Given the description of an element on the screen output the (x, y) to click on. 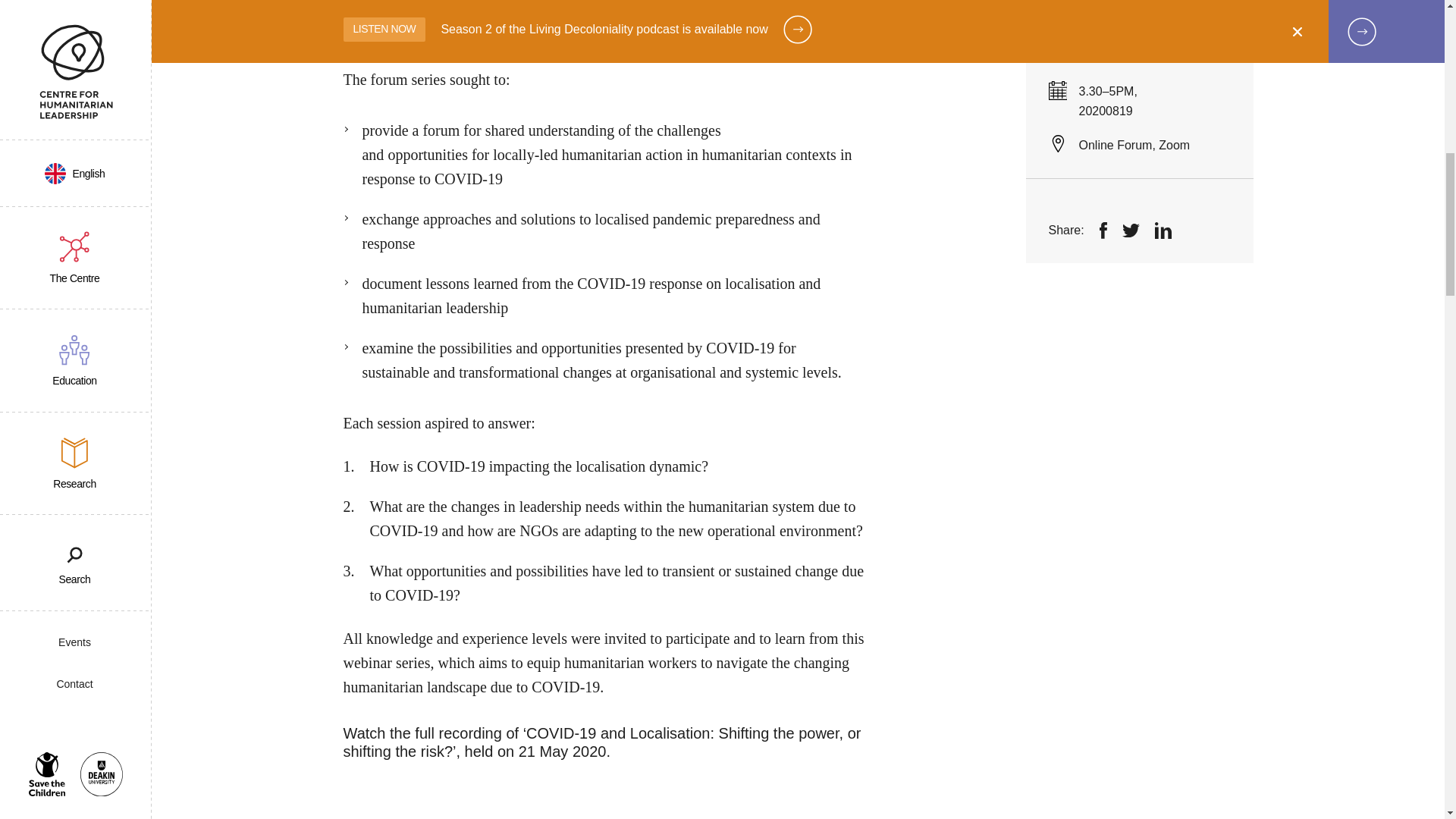
Share this on LinkedIn (1163, 30)
Share this on Twitter (1131, 29)
